Given the description of an element on the screen output the (x, y) to click on. 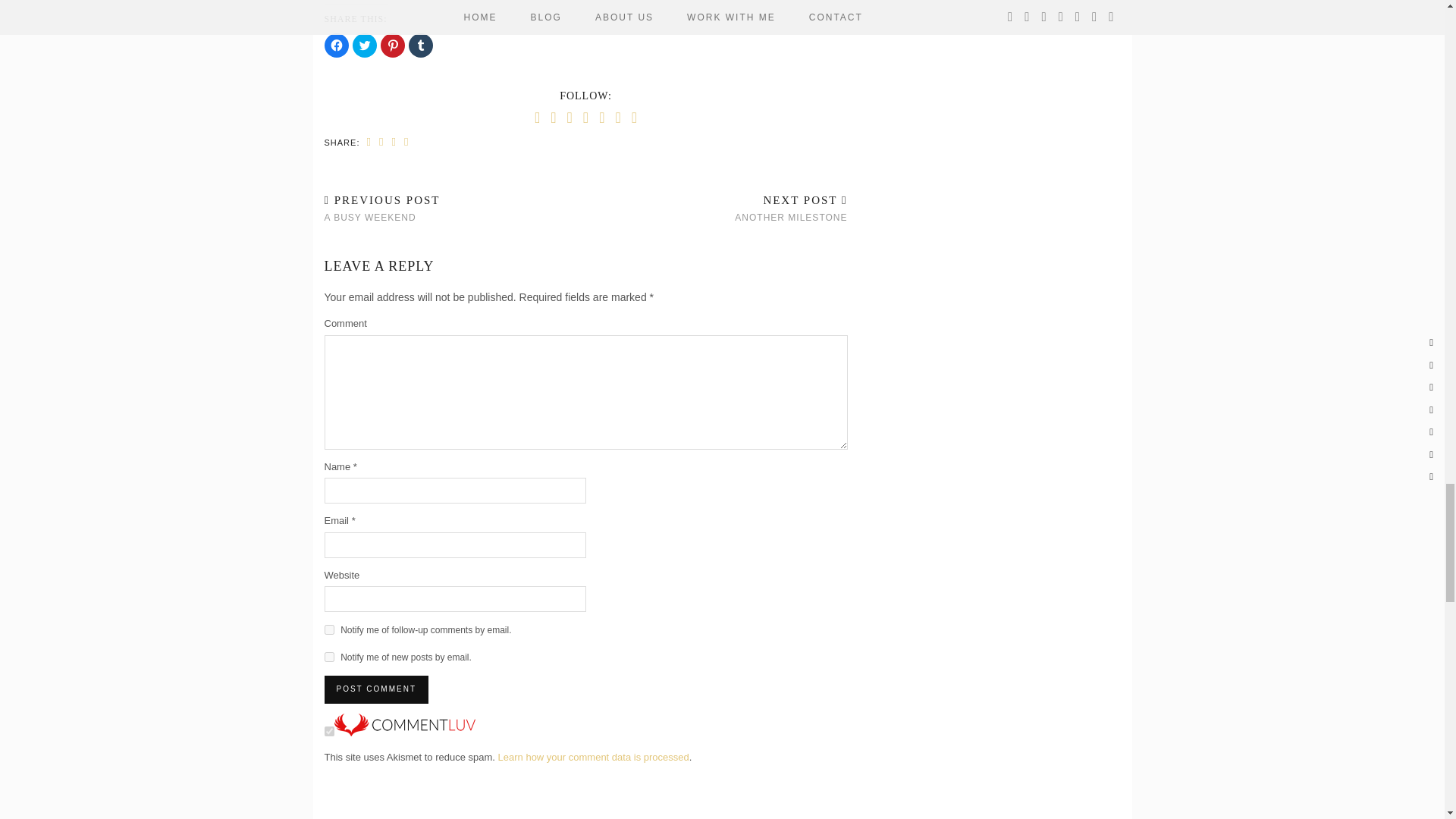
subscribe (329, 656)
Post Comment (376, 688)
on (329, 731)
subscribe (329, 629)
